Given the description of an element on the screen output the (x, y) to click on. 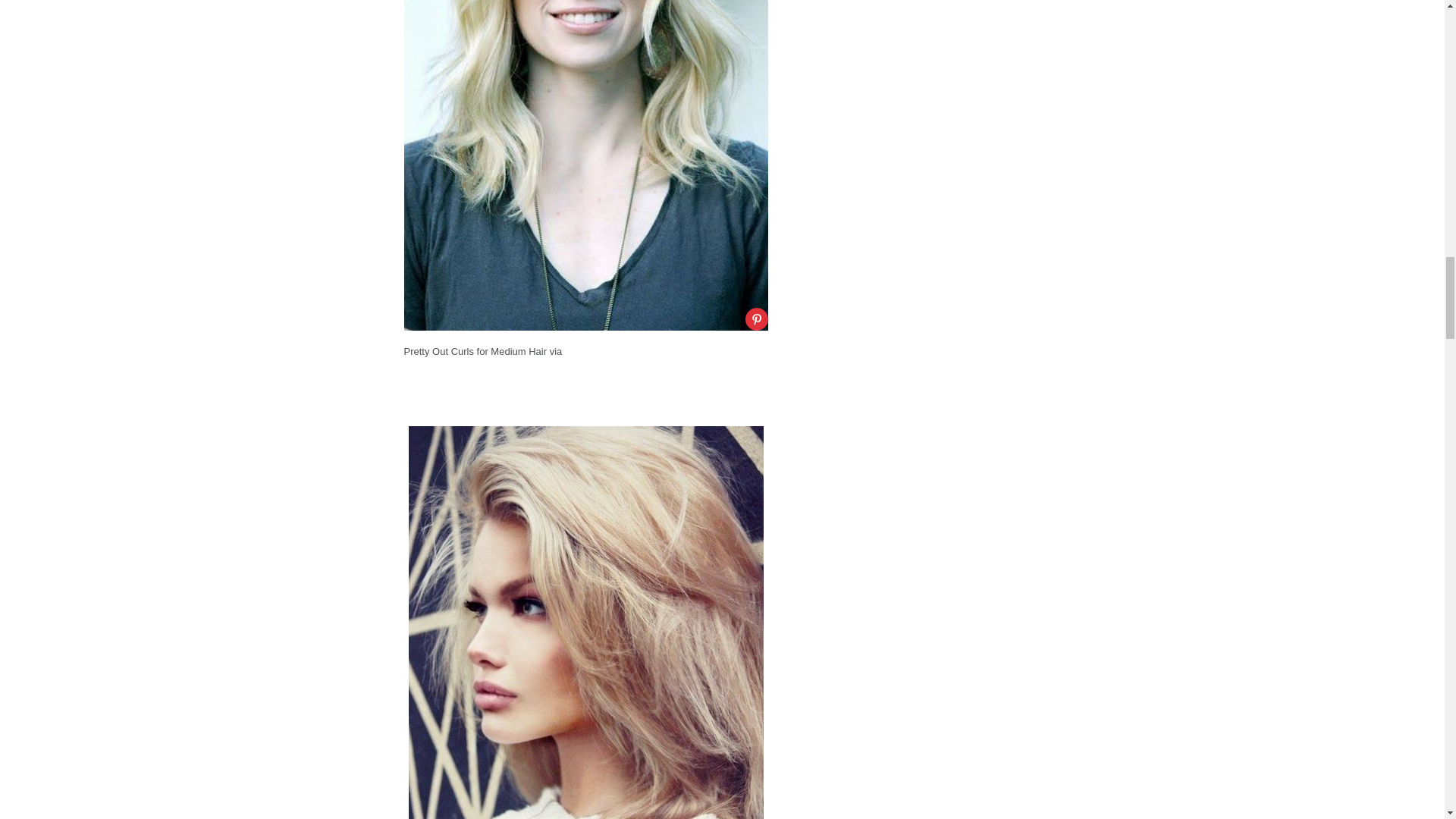
via (554, 351)
